Given the description of an element on the screen output the (x, y) to click on. 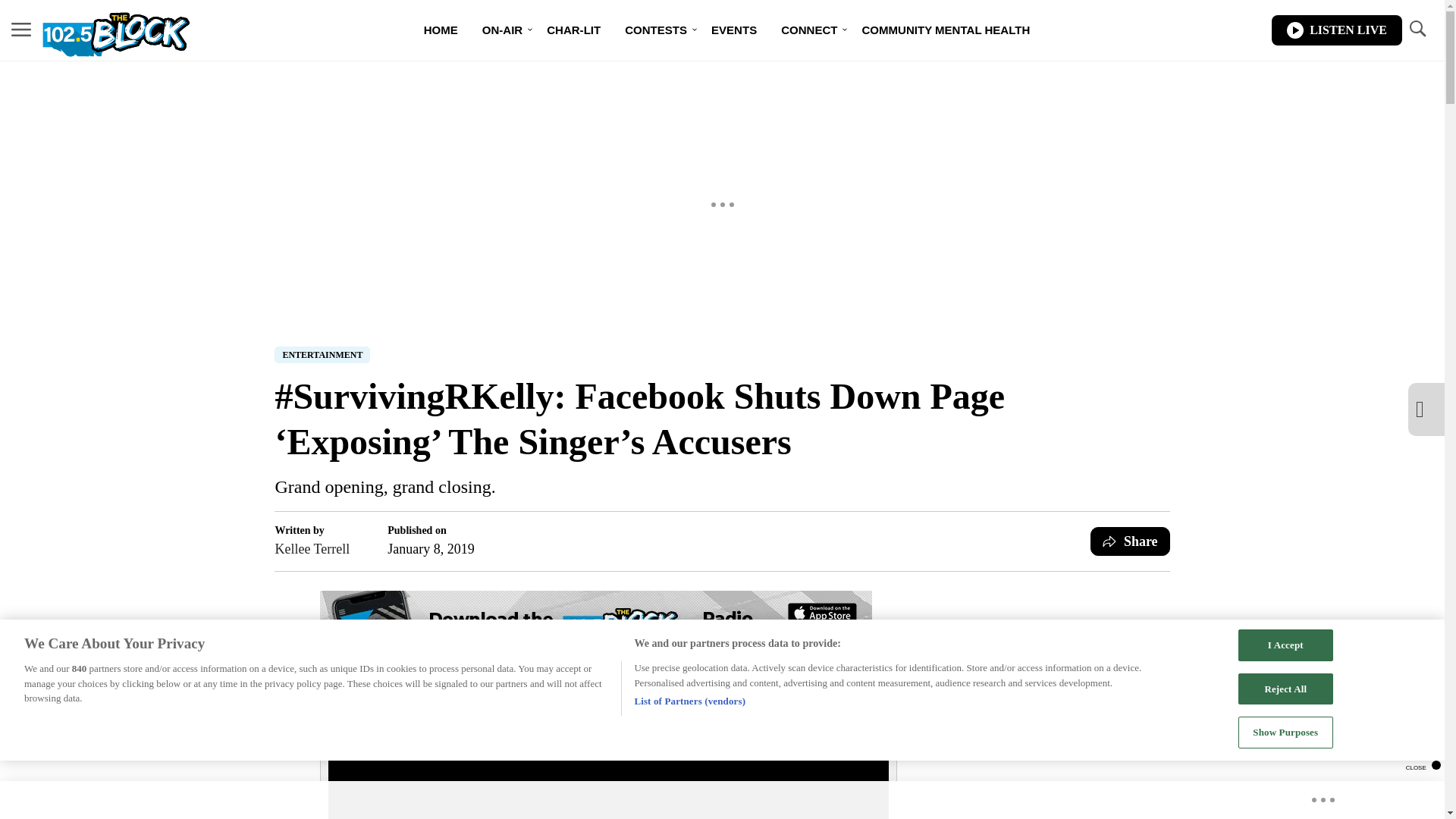
COMMUNITY MENTAL HEALTH (945, 30)
EVENTS (733, 30)
Kellee Terrell (312, 548)
CONNECT (808, 30)
CHAR-LIT (573, 30)
ENTERTAINMENT (322, 354)
MENU (20, 30)
ON-AIR (502, 30)
TOGGLE SEARCH (1417, 30)
TOGGLE SEARCH (1417, 28)
LISTEN LIVE (1336, 30)
MENU (20, 29)
HOME (441, 30)
CONTESTS (655, 30)
Share (1130, 541)
